Given the description of an element on the screen output the (x, y) to click on. 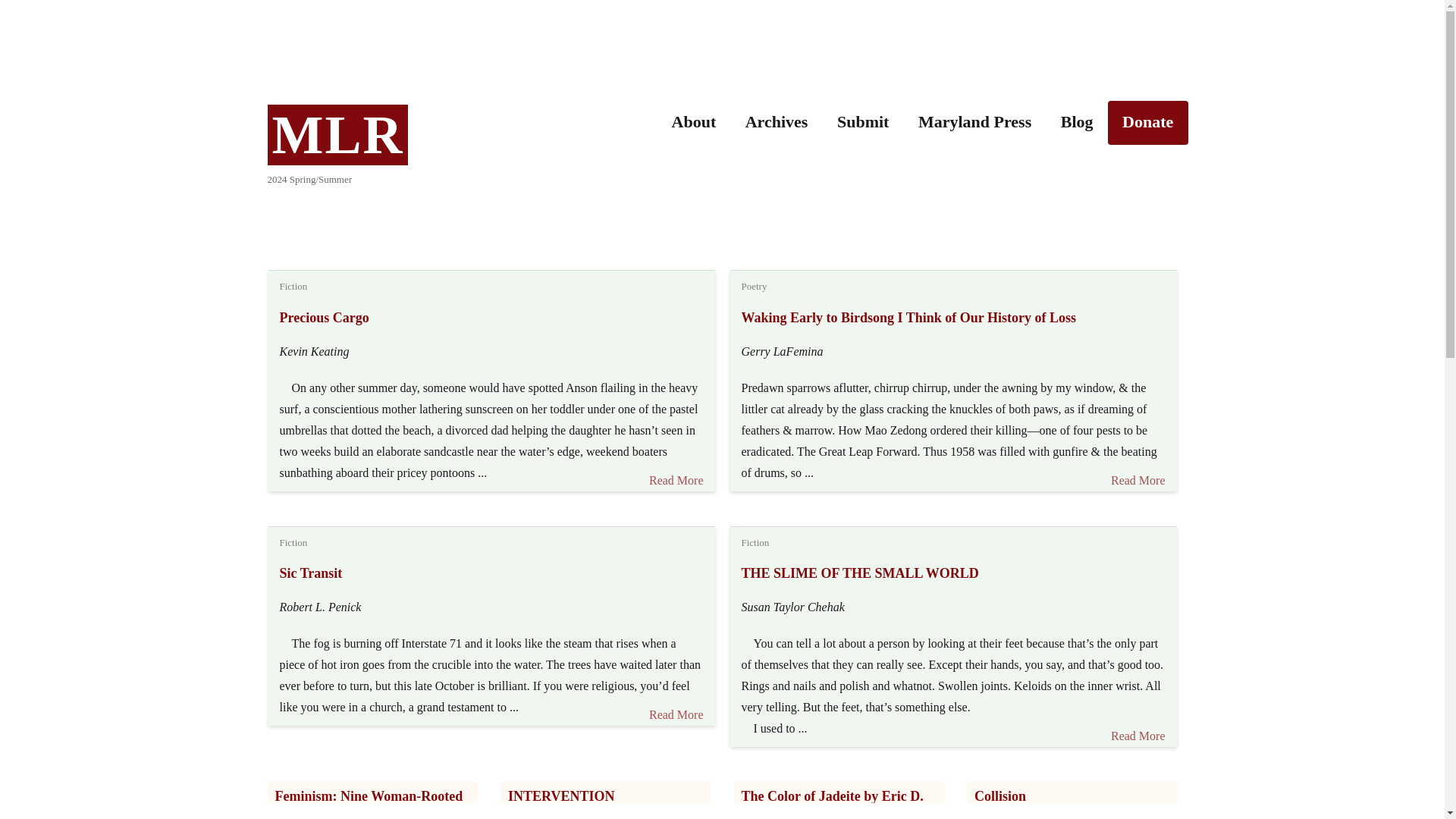
Poetry (754, 285)
Read More (1132, 735)
Fiction (755, 542)
Read More (670, 714)
Poetry (754, 285)
Submit (863, 122)
Donate (1148, 122)
Maryland Press (975, 122)
Waking Early to Birdsong I Think of Our History of Loss (908, 317)
Read More (1138, 480)
